Given the description of an element on the screen output the (x, y) to click on. 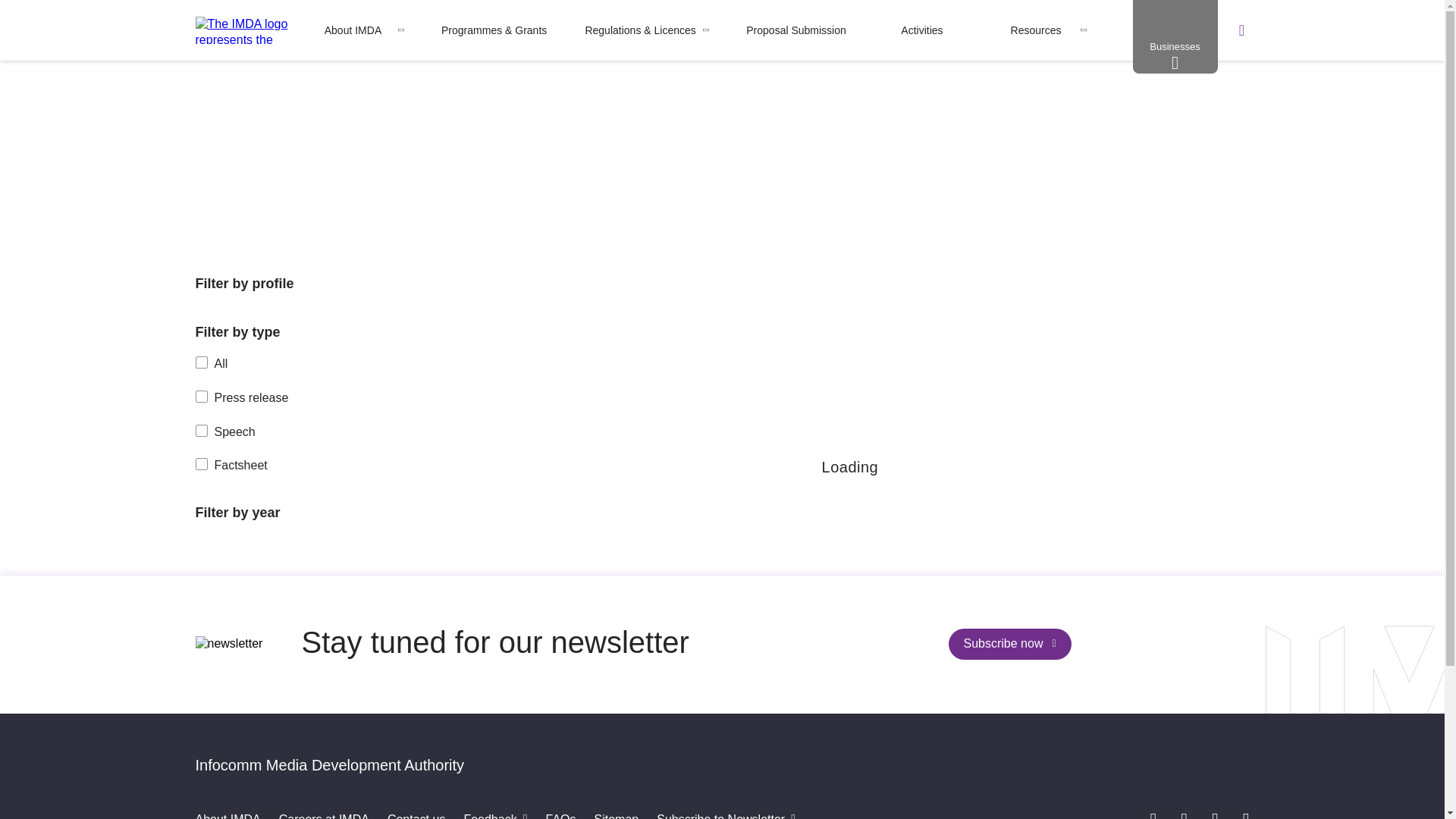
Architects of SG's Digital Future (270, 87)
Businesses (1174, 36)
Activities (921, 30)
About IMDA (353, 30)
IMDA (248, 30)
Proposal Submission (795, 30)
Resources (1035, 30)
